Given the description of an element on the screen output the (x, y) to click on. 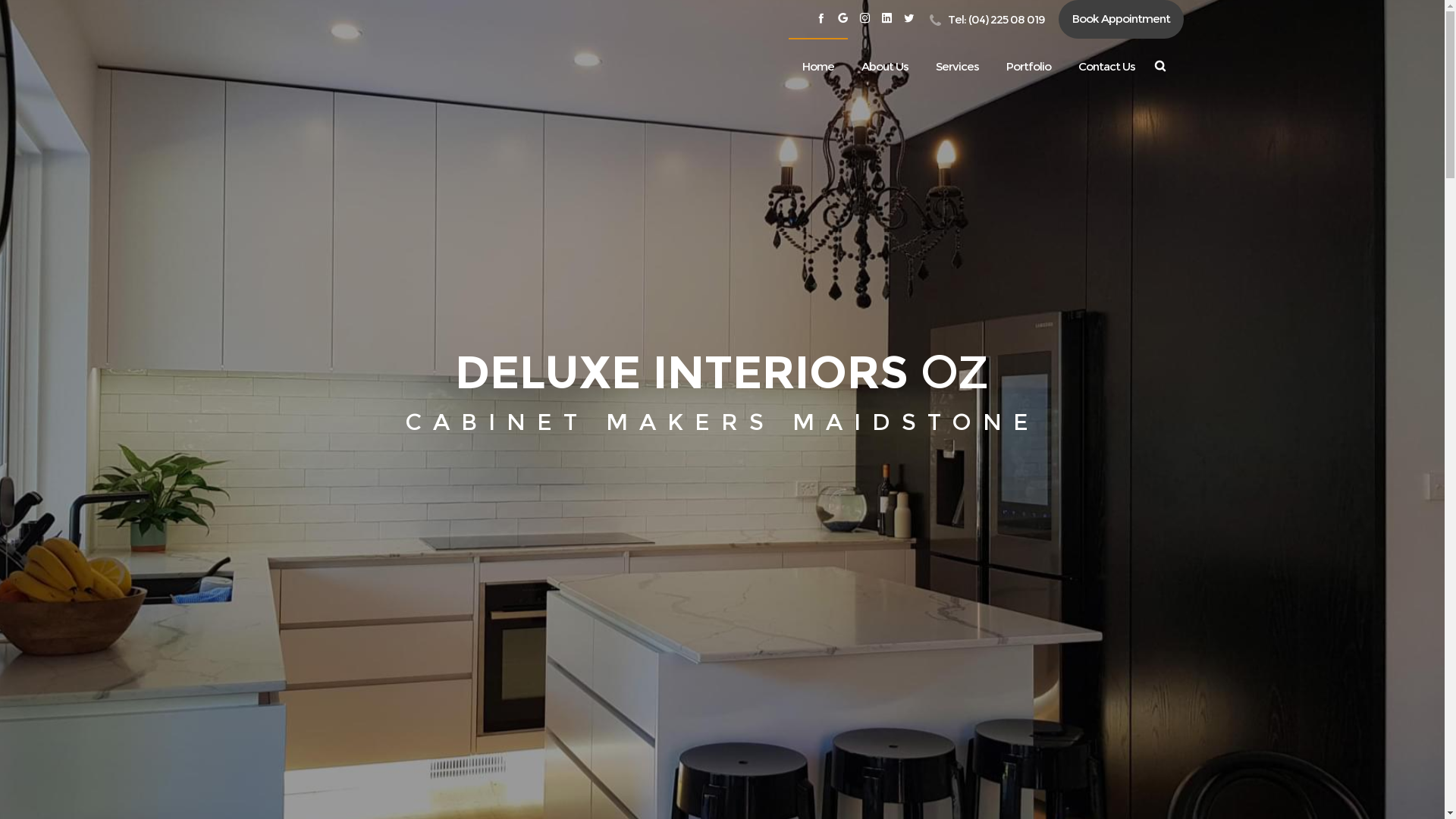
LinkedIN Element type: hover (886, 17)
Search Element type: text (1071, 412)
Book Appointment Element type: text (1121, 18)
Google + Element type: hover (842, 17)
Contact Us Element type: text (1106, 66)
Twitter Element type: hover (908, 17)
Home Element type: text (818, 66)
Facebook Element type: hover (820, 17)
Site logo Element type: hover (388, 65)
Portfolio Element type: text (1027, 66)
Instagram Element type: hover (864, 17)
Tel: (04) 225 08 019 Element type: text (986, 19)
About Us Element type: text (884, 66)
Services Element type: text (957, 66)
